Given the description of an element on the screen output the (x, y) to click on. 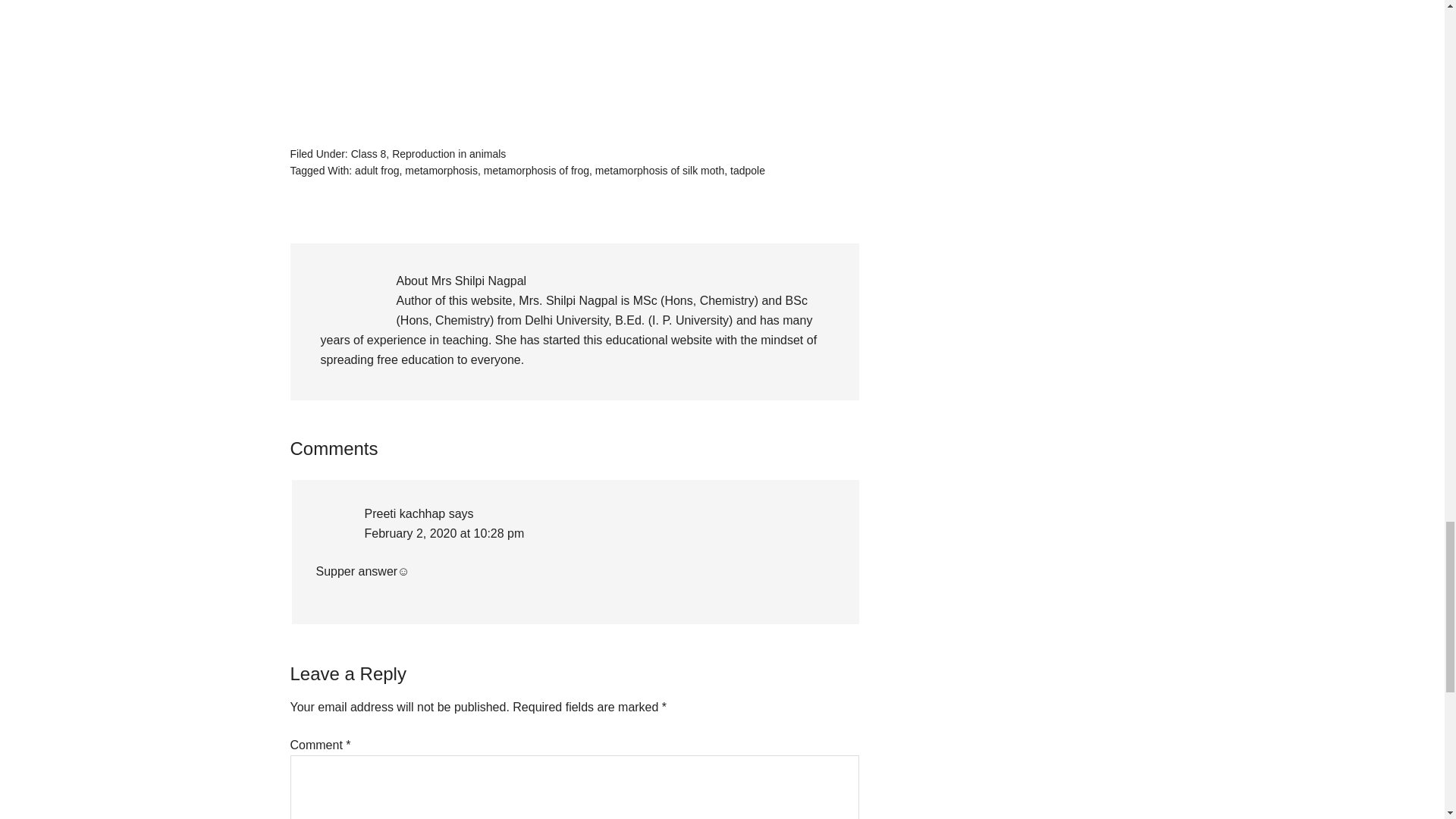
Advertisement (574, 69)
metamorphosis of frog (536, 170)
tadpole (747, 170)
Reproduction in animals (448, 153)
Class 8 (368, 153)
metamorphosis of silk moth (659, 170)
metamorphosis (440, 170)
adult frog (376, 170)
February 2, 2020 at 10:28 pm (444, 533)
